Given the description of an element on the screen output the (x, y) to click on. 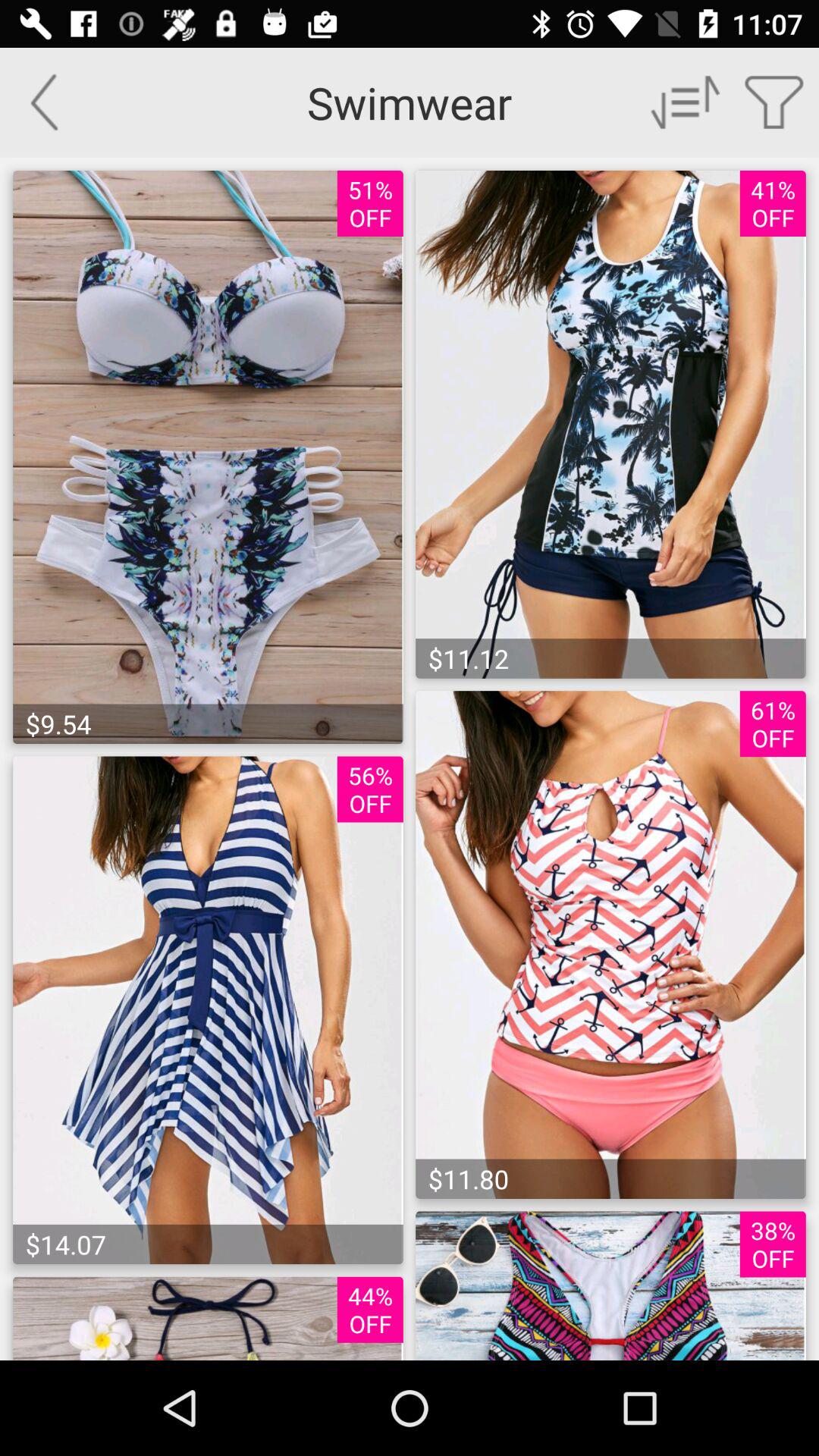
toggle a list of things you have choose to buy (774, 102)
